Given the description of an element on the screen output the (x, y) to click on. 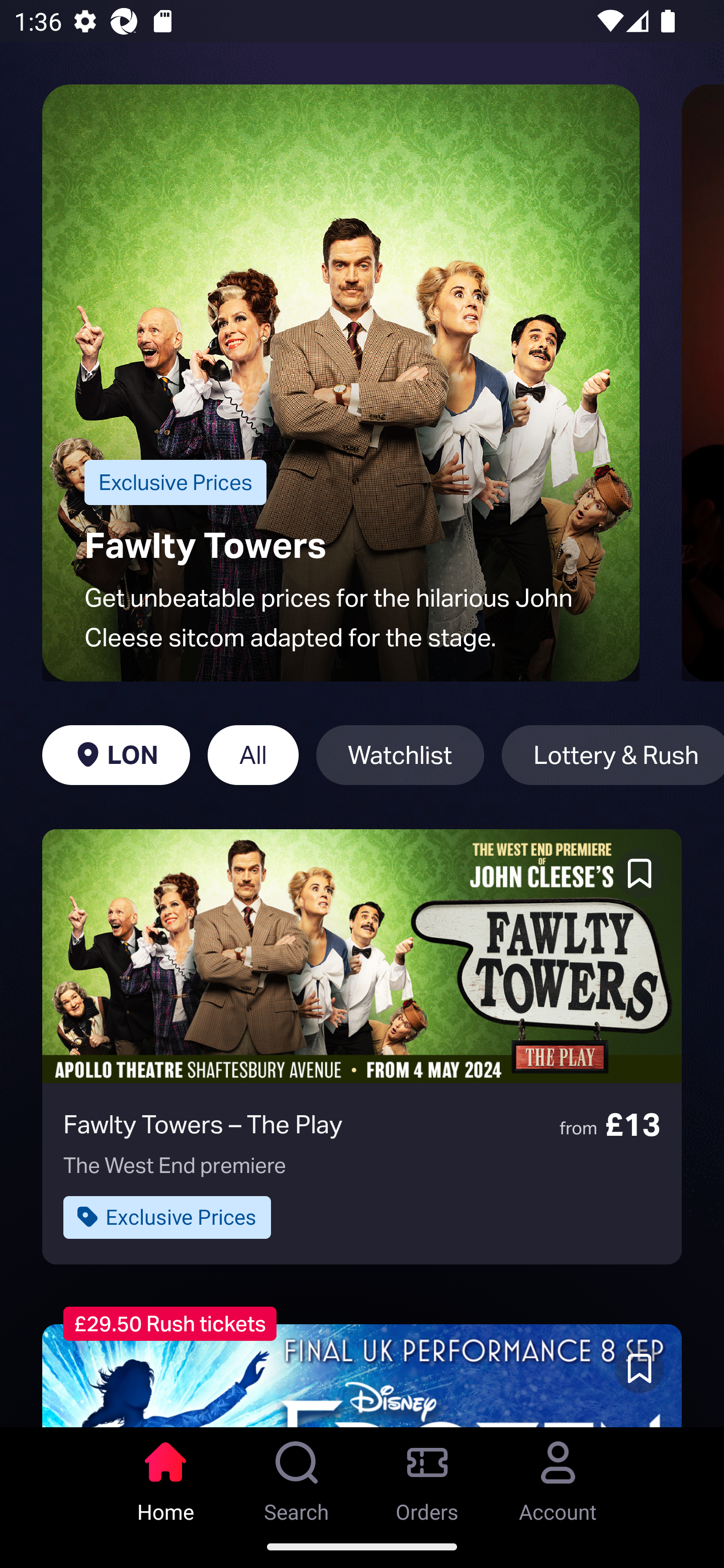
LON (115, 754)
All (252, 754)
Watchlist (400, 754)
Lottery & Rush (612, 754)
Search (296, 1475)
Orders (427, 1475)
Account (558, 1475)
